Given the description of an element on the screen output the (x, y) to click on. 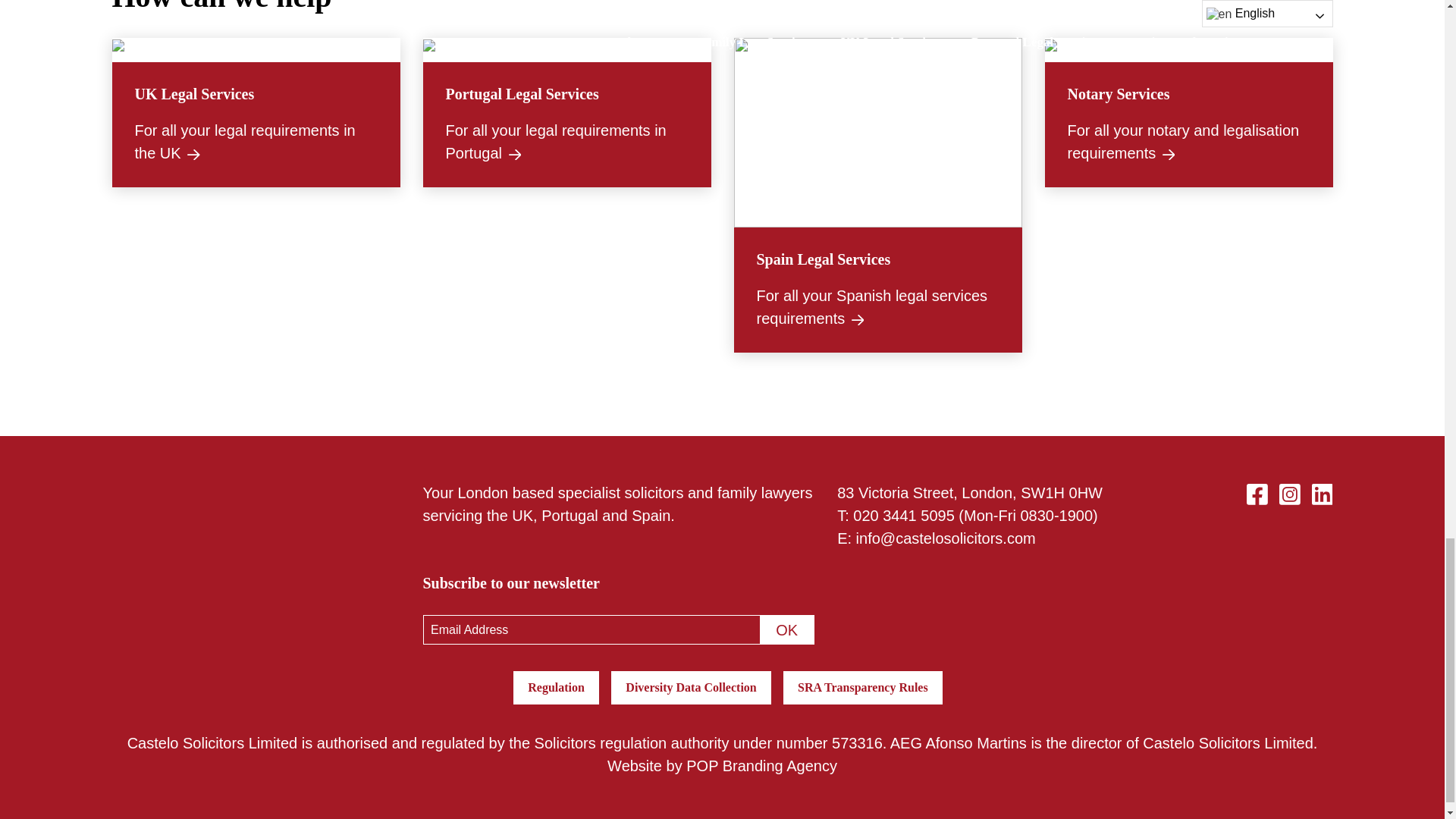
Facebook (1257, 492)
LinkedIn (1322, 492)
POP Branding Agency (761, 765)
Instagram (1289, 492)
Email us (903, 515)
Email us (945, 538)
